Given the description of an element on the screen output the (x, y) to click on. 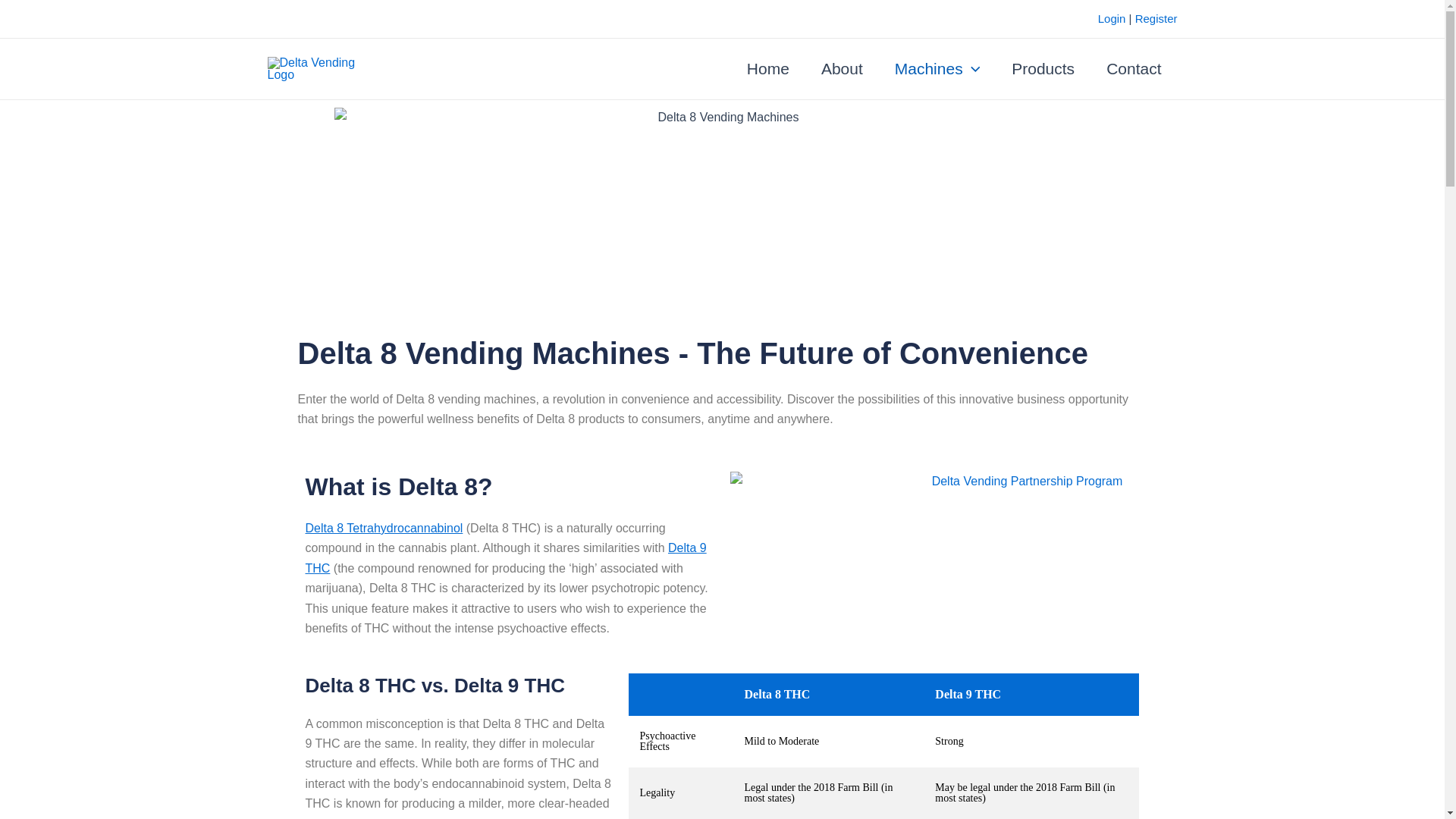
Register (1156, 18)
Login (1111, 18)
Delta 8 Tetrahydrocannabinol (383, 527)
Delta 9 THC (505, 557)
Home (767, 68)
Contact (1133, 68)
Machines (937, 68)
Products (1042, 68)
About (842, 68)
